Given the description of an element on the screen output the (x, y) to click on. 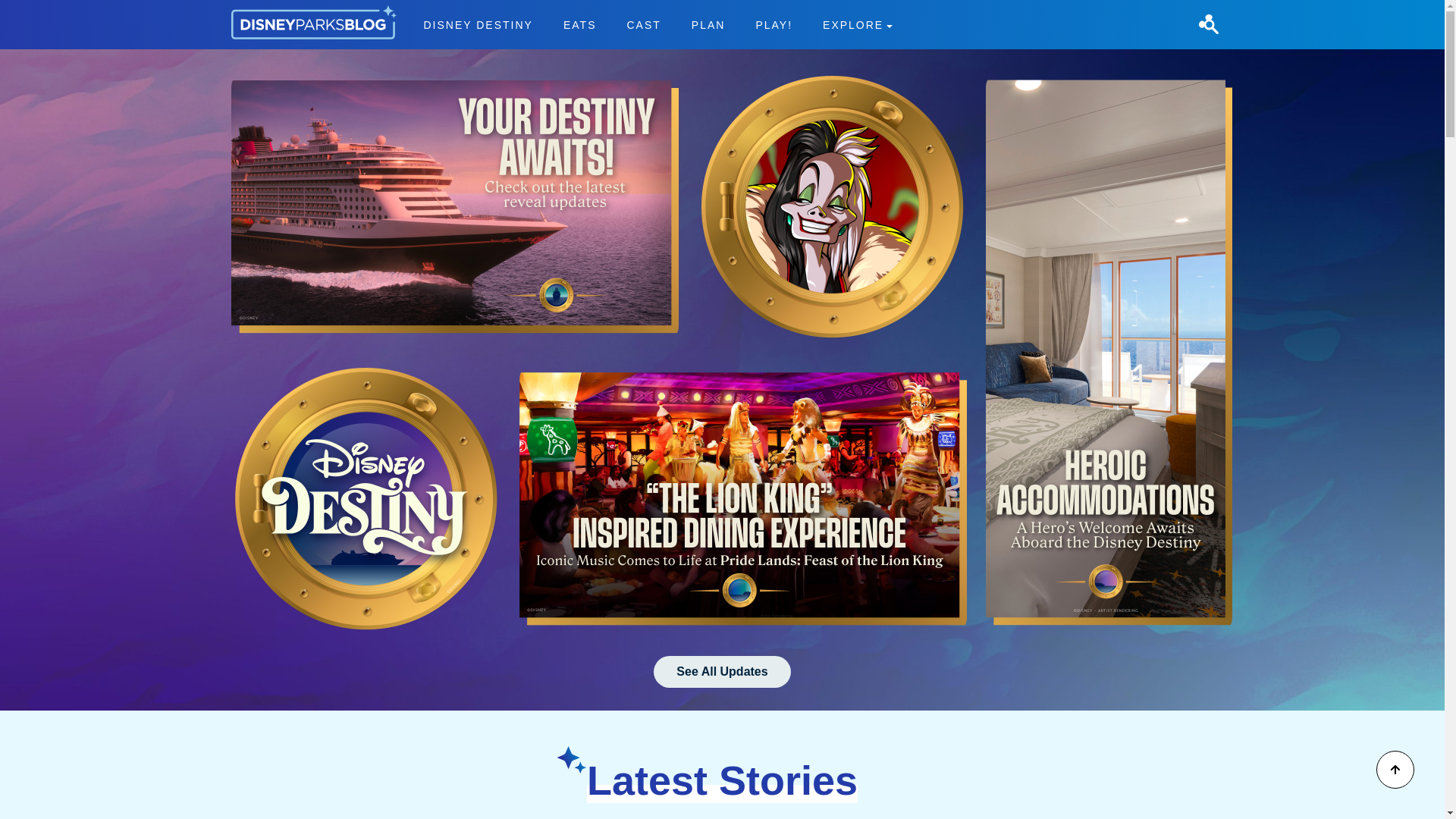
CAST (643, 23)
EXPLORE (857, 23)
Search (1208, 24)
DISNEY DESTINY (478, 23)
PLAY! (773, 23)
EATS (579, 23)
Skip to content (40, 8)
See All Updates (657, 23)
PLAN (721, 671)
